Given the description of an element on the screen output the (x, y) to click on. 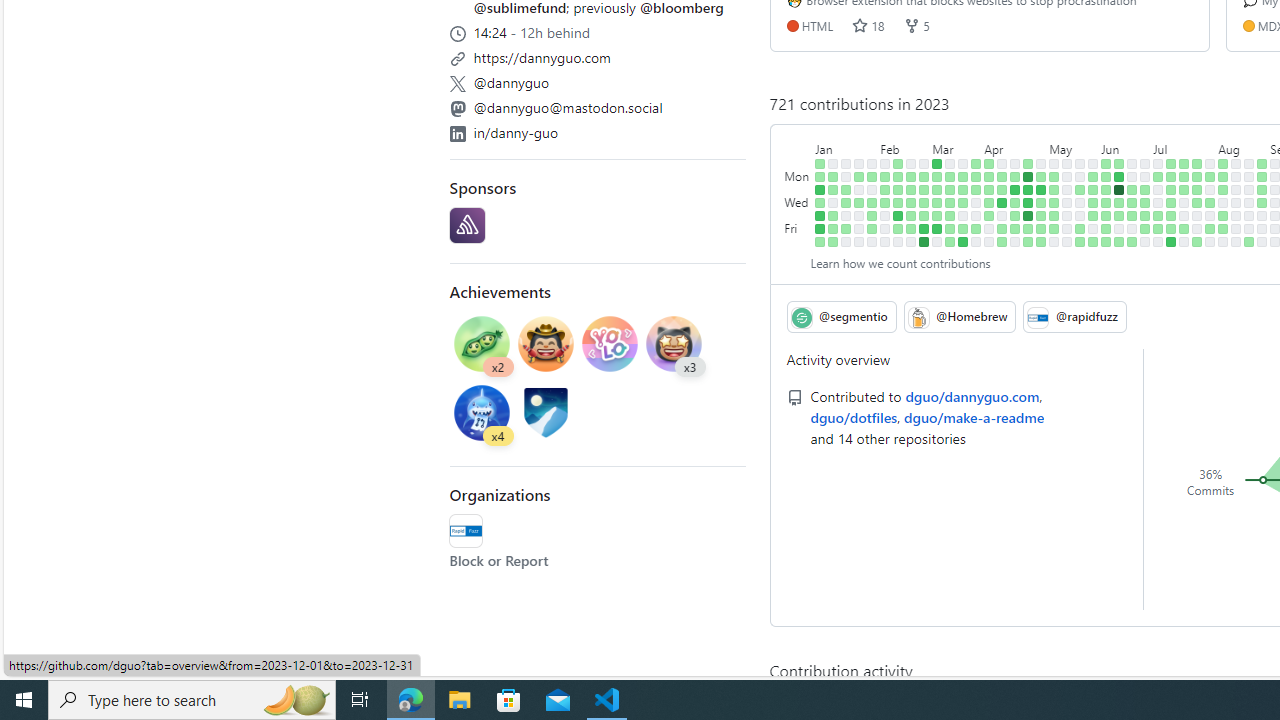
2 contributions on June 11th. (1119, 163)
No contributions on May 7th. (1054, 163)
stars (860, 25)
1 contribution on April 23rd. (1028, 163)
2 contributions on May 5th. (1041, 228)
1 contribution on July 18th. (1184, 189)
6 contributions on July 7th. (1158, 228)
1 contribution on January 18th. (846, 202)
1 contribution on May 27th. (1080, 241)
No contributions on January 31st. (872, 189)
No contributions on August 12th. (1223, 241)
No contributions on May 15th. (1067, 176)
3 contributions on February 24th. (911, 228)
No contributions on May 19th. (1067, 228)
2 contributions on February 27th. (924, 176)
